Given the description of an element on the screen output the (x, y) to click on. 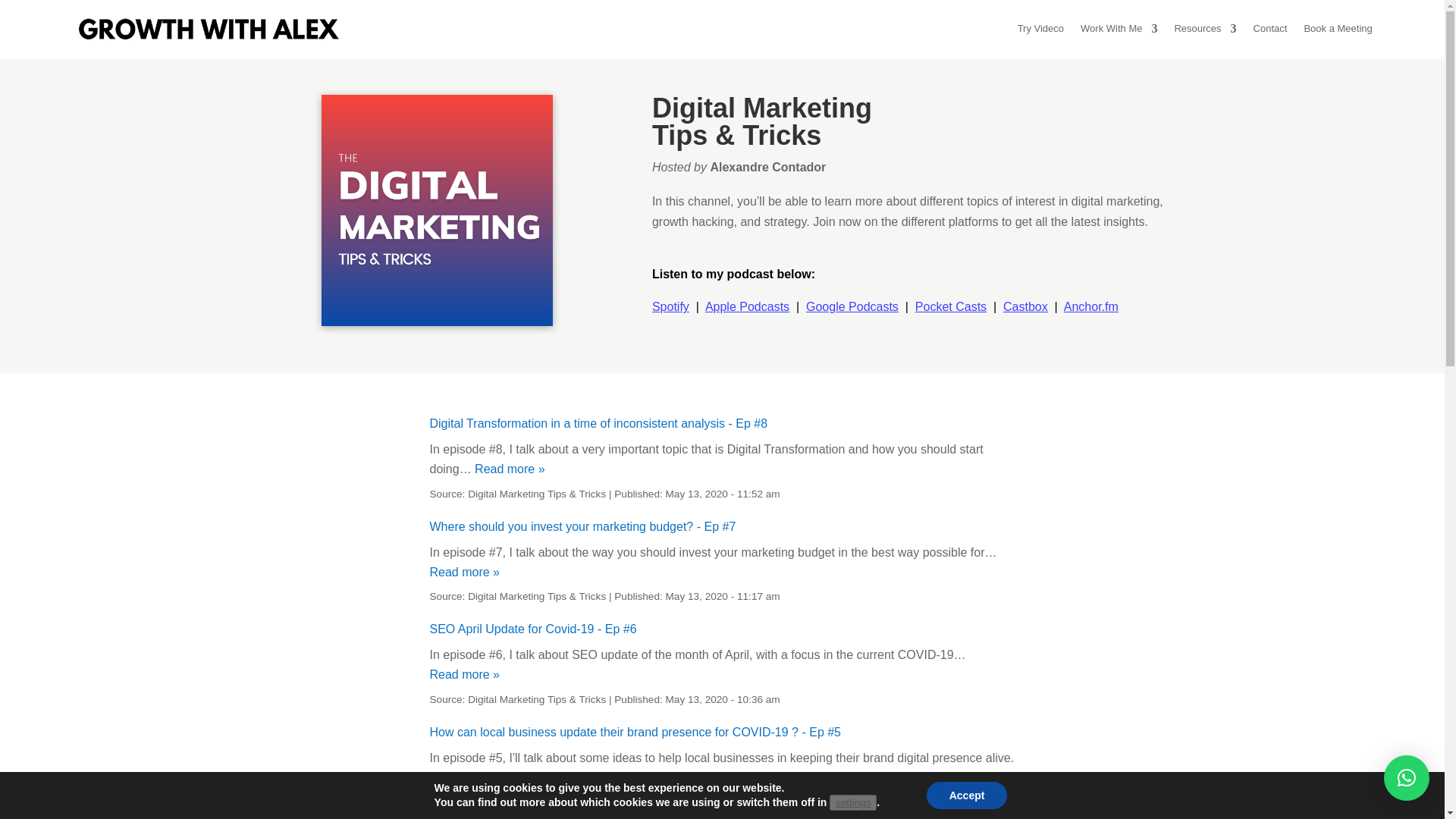
Google Podcasts (852, 306)
Spotify (670, 306)
DMTT-Podcast-Short-Logo-GradientBG (437, 210)
Apple Podcasts (746, 306)
Work With Me (1118, 28)
Resources (1204, 28)
Book a Meeting (1337, 28)
